Given the description of an element on the screen output the (x, y) to click on. 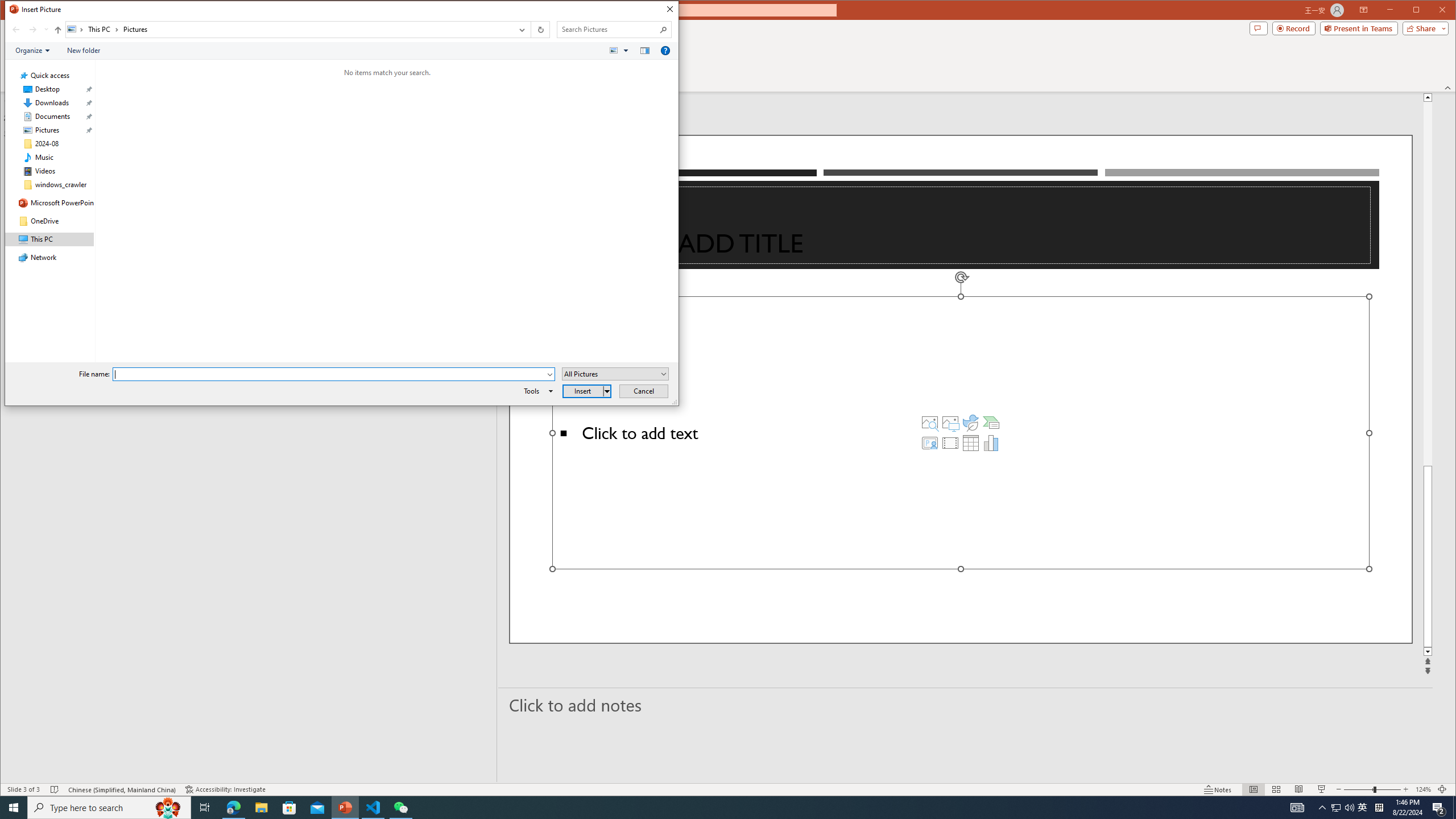
Pictures (949, 422)
Start (13, 807)
Organize (32, 50)
Address band toolbar (530, 29)
Microsoft Edge - 1 running window (233, 807)
Reading View (1298, 789)
WeChat - 1 running window (400, 807)
Files of type: (615, 373)
Navigation buttons (28, 29)
Previous Locations (520, 29)
Accessibility Checker Accessibility: Investigate (225, 789)
Preview pane (644, 50)
Present in Teams (1358, 28)
Task View (204, 807)
